Given the description of an element on the screen output the (x, y) to click on. 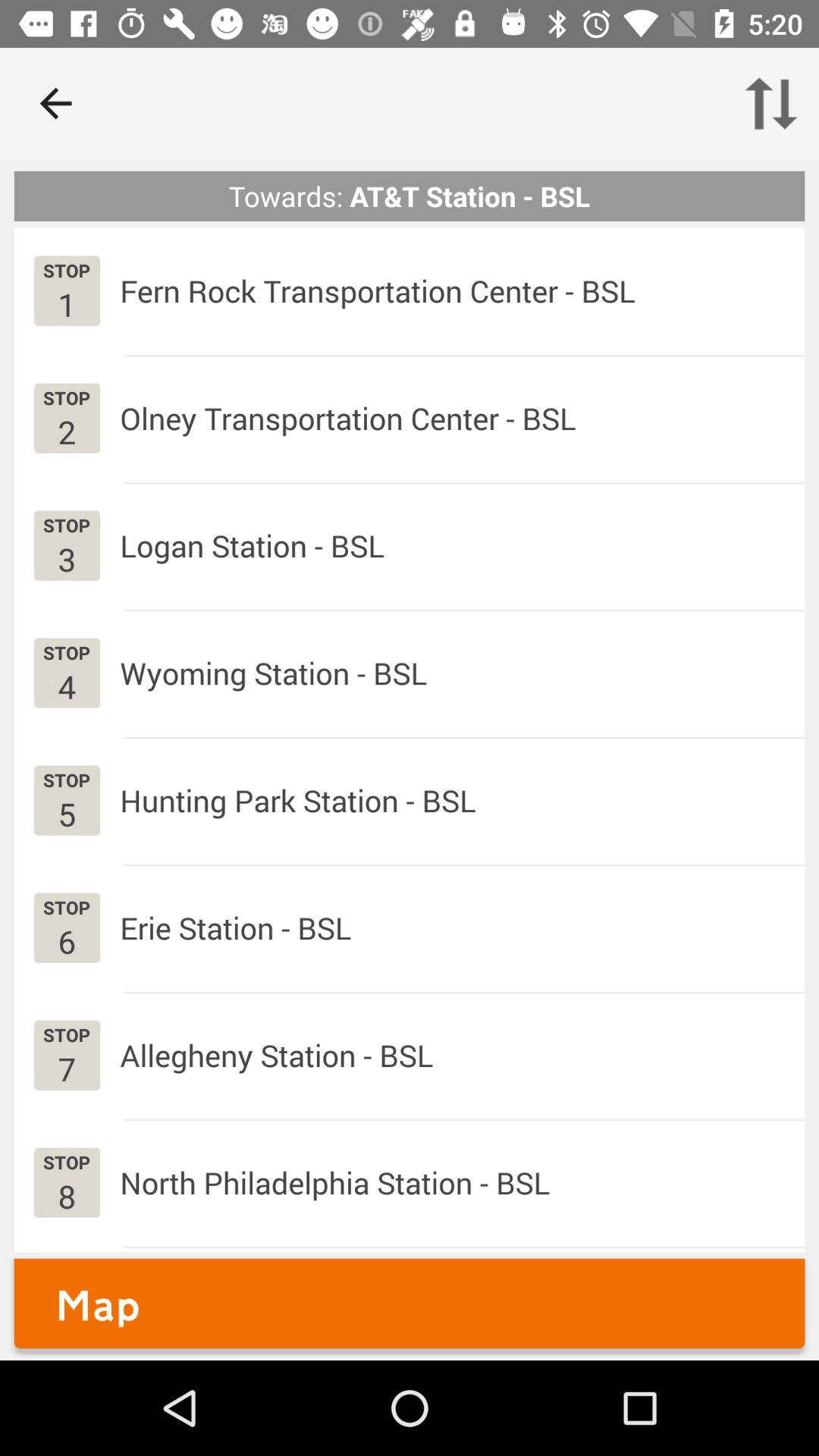
select app below the stop app (66, 1068)
